Given the description of an element on the screen output the (x, y) to click on. 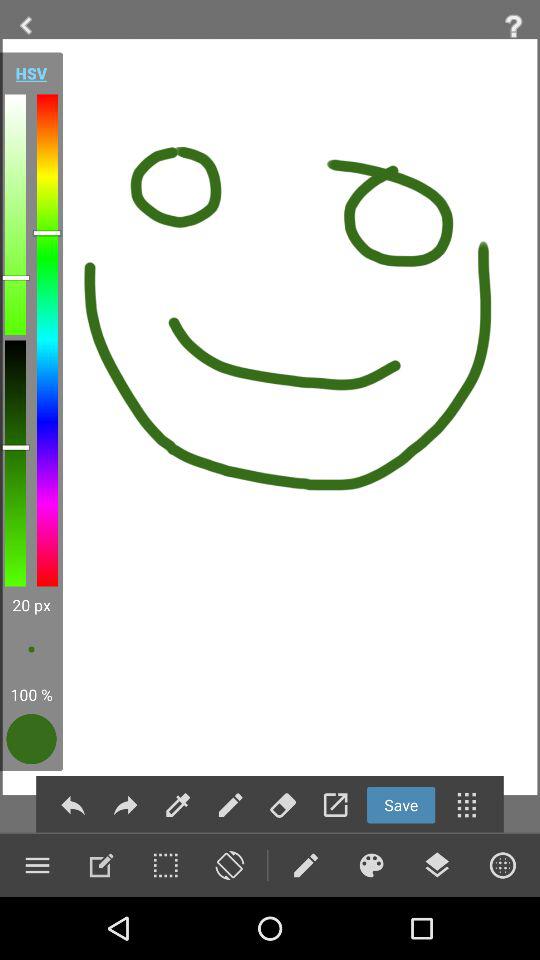
screen shot option (229, 865)
